Given the description of an element on the screen output the (x, y) to click on. 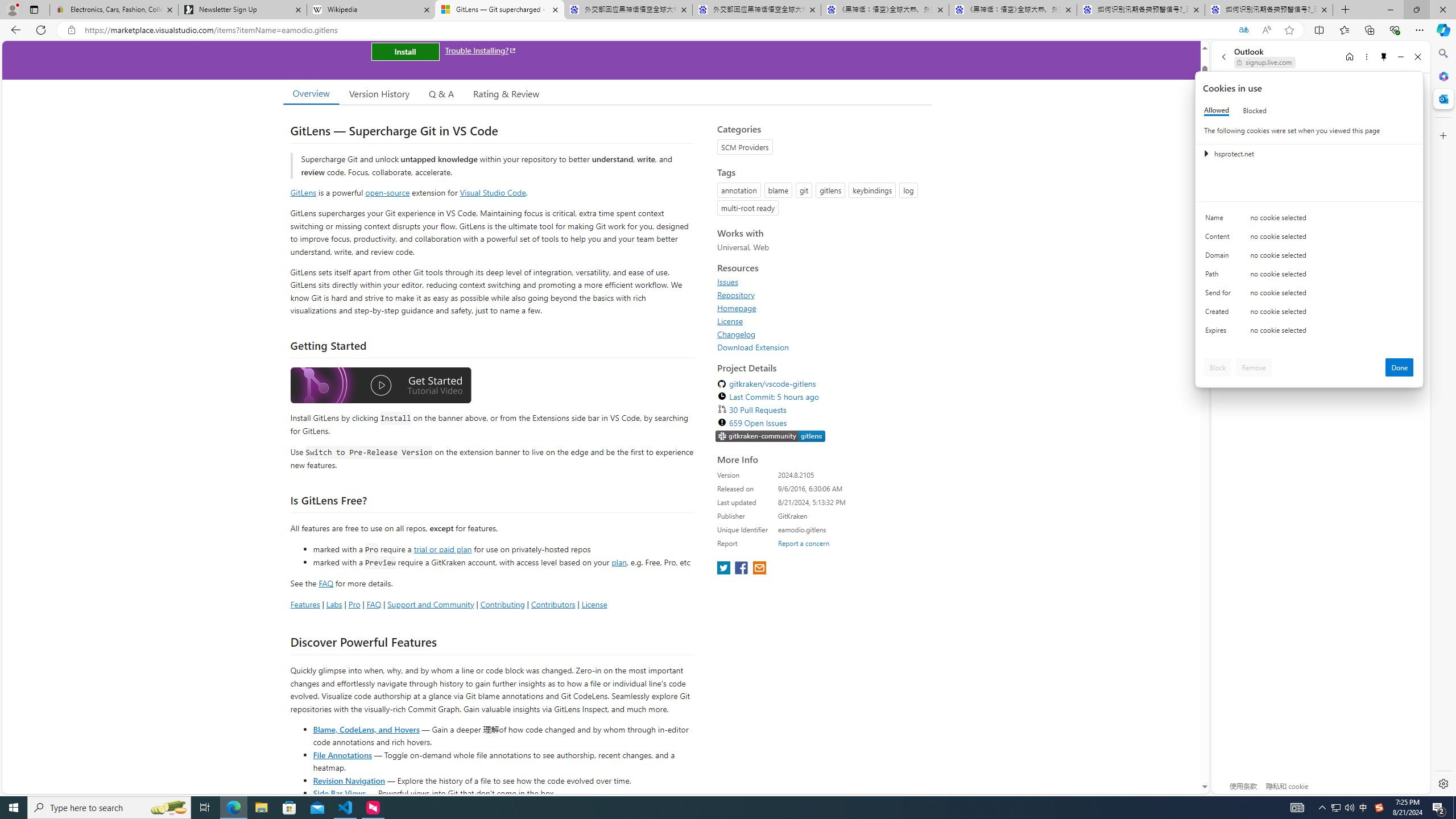
Features (304, 603)
Newsletter Sign Up (242, 9)
open-source (387, 192)
Created (1219, 313)
File Annotations (342, 754)
Rating & Review (505, 92)
no cookie selected (1331, 332)
